Given the description of an element on the screen output the (x, y) to click on. 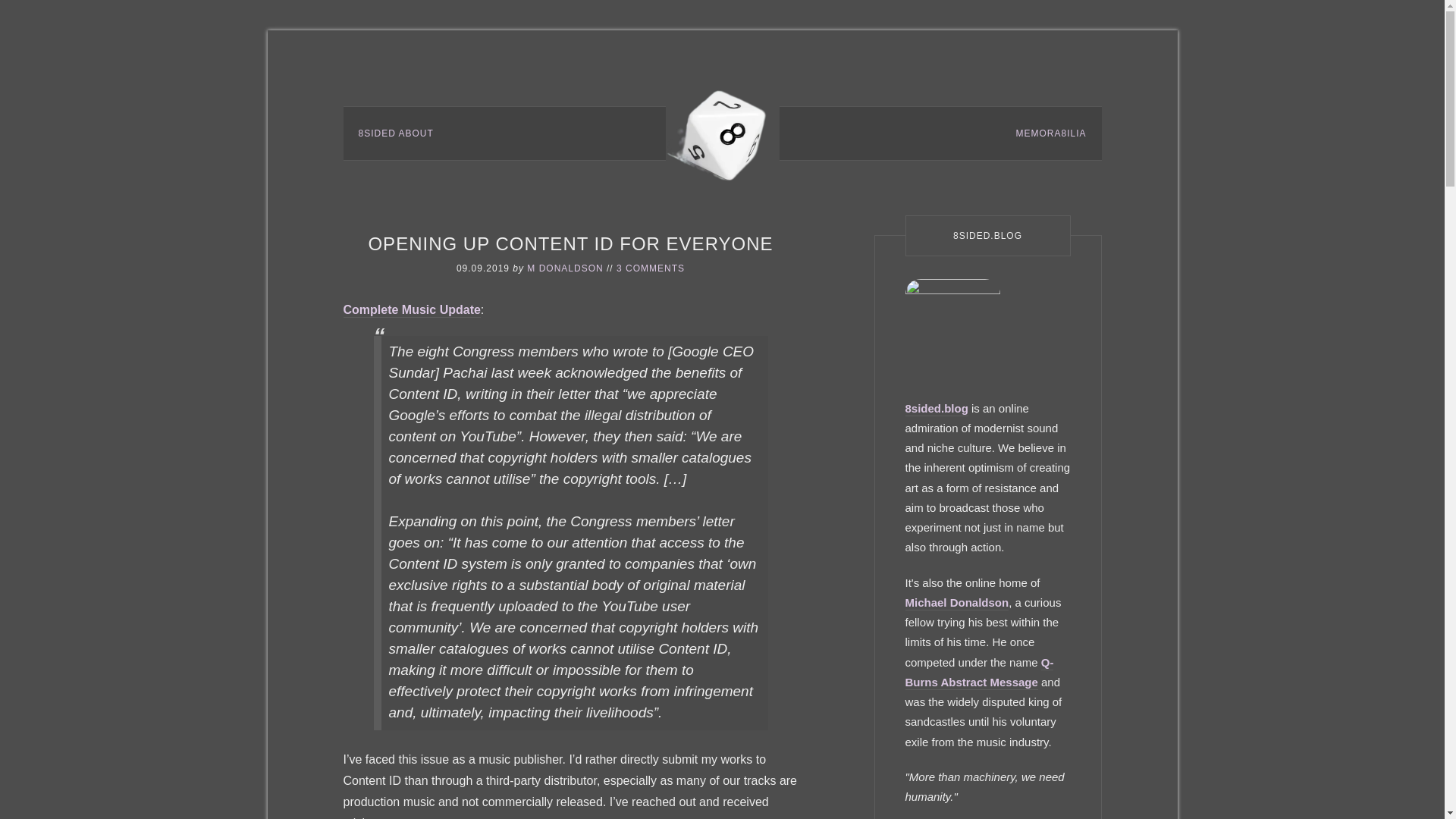
8SIDED ABOUT (395, 133)
Complete Music Update (411, 310)
M DONALDSON (564, 267)
8sided.blog (936, 409)
Q-Burns Abstract Message (979, 672)
Michael Donaldson (957, 603)
3 COMMENTS (649, 267)
MEMORA8ILIA (1050, 133)
8SIDED BLOG (721, 132)
